Given the description of an element on the screen output the (x, y) to click on. 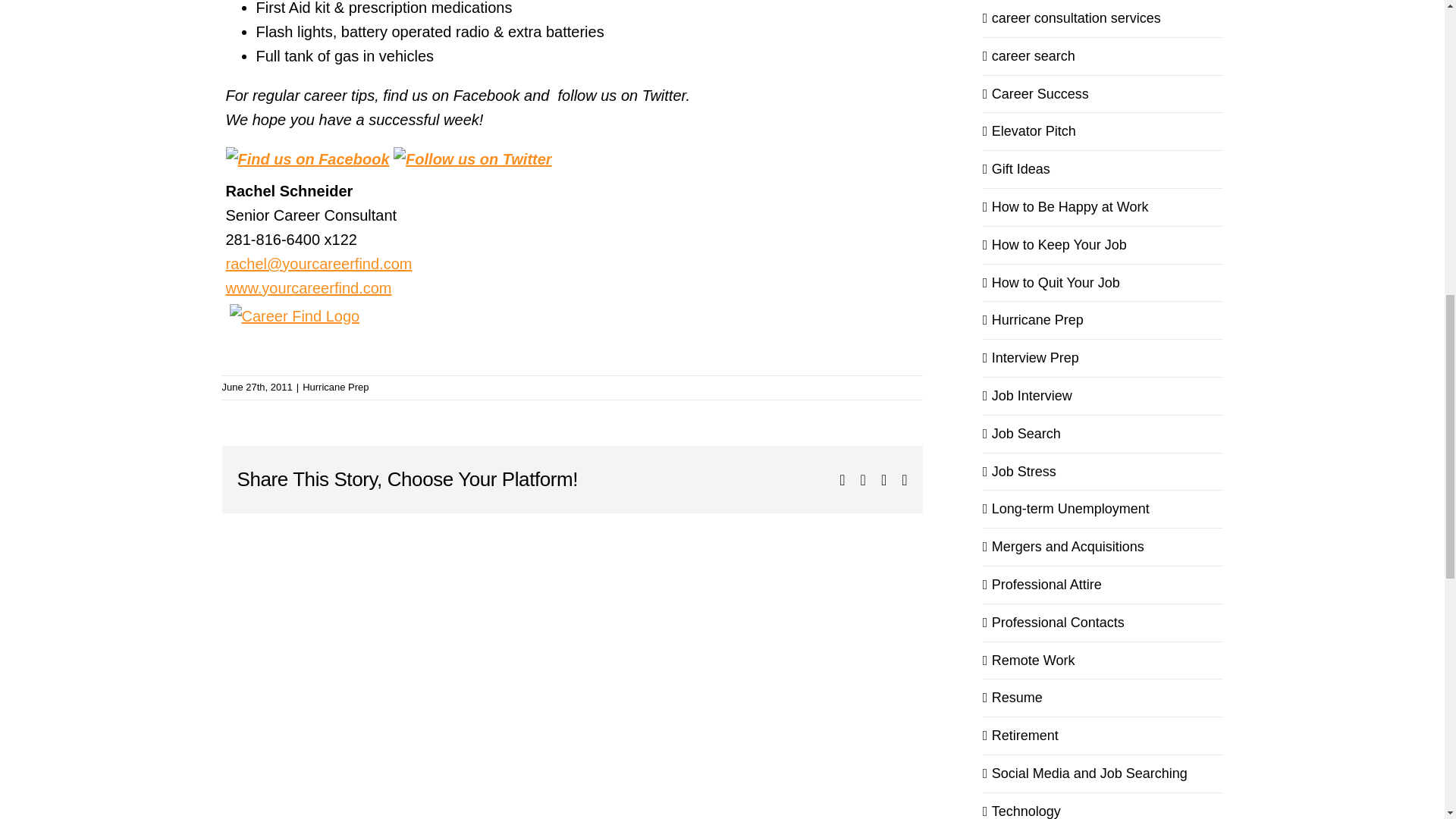
Find us on Facebook (307, 159)
Interview Prep (1103, 358)
How to Be Happy at Work (1103, 207)
career consultation services (1103, 18)
Career Success (1103, 94)
Job Search (1103, 434)
How to Keep Your Job (1103, 245)
career search (1103, 56)
www.yourcareerfind.com (308, 288)
Follow us on Twitter (472, 159)
